Given the description of an element on the screen output the (x, y) to click on. 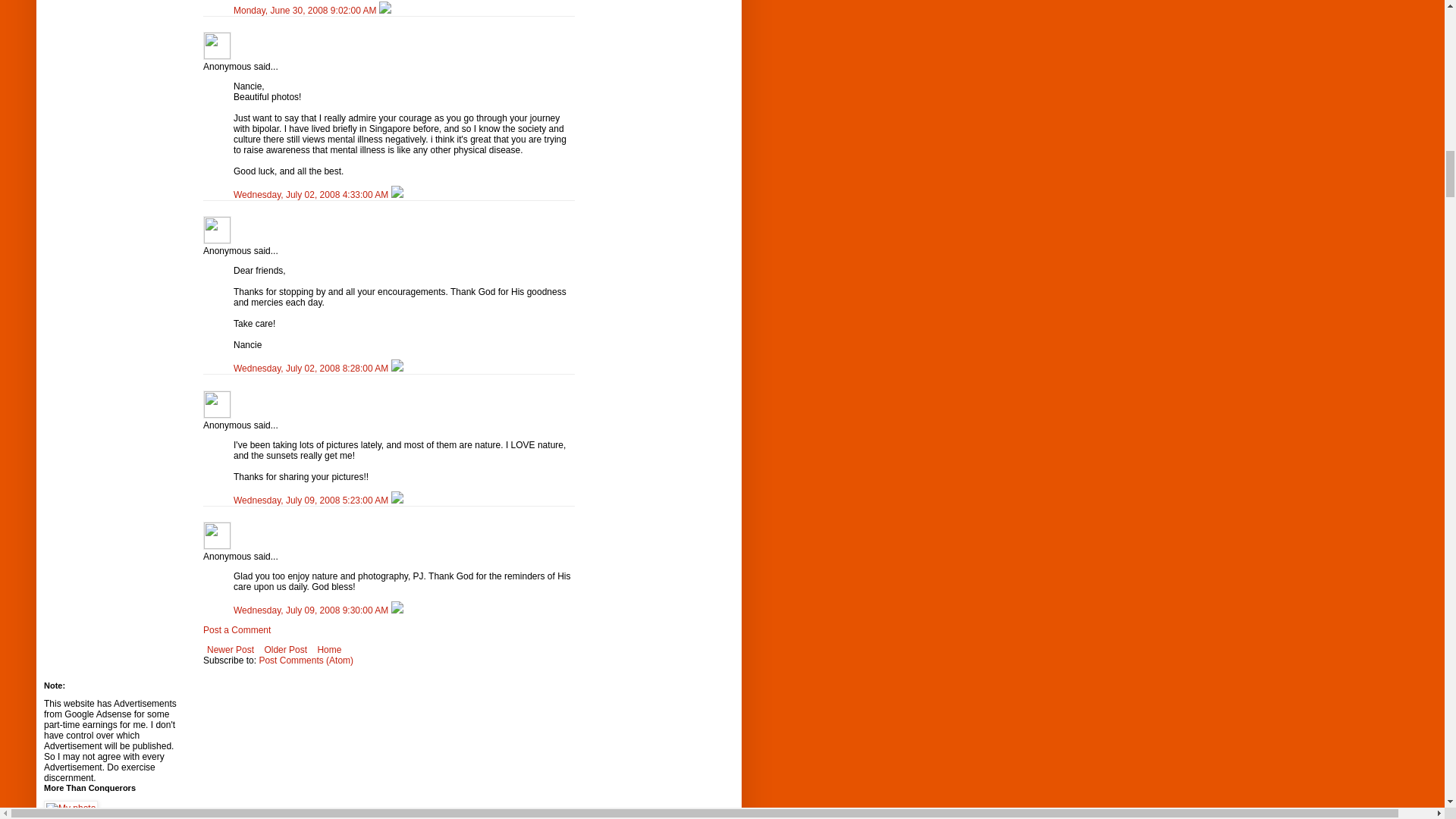
Monday, June 30, 2008 9:02:00 AM (305, 9)
Wednesday, July 02, 2008 4:33:00 AM (311, 194)
